Given the description of an element on the screen output the (x, y) to click on. 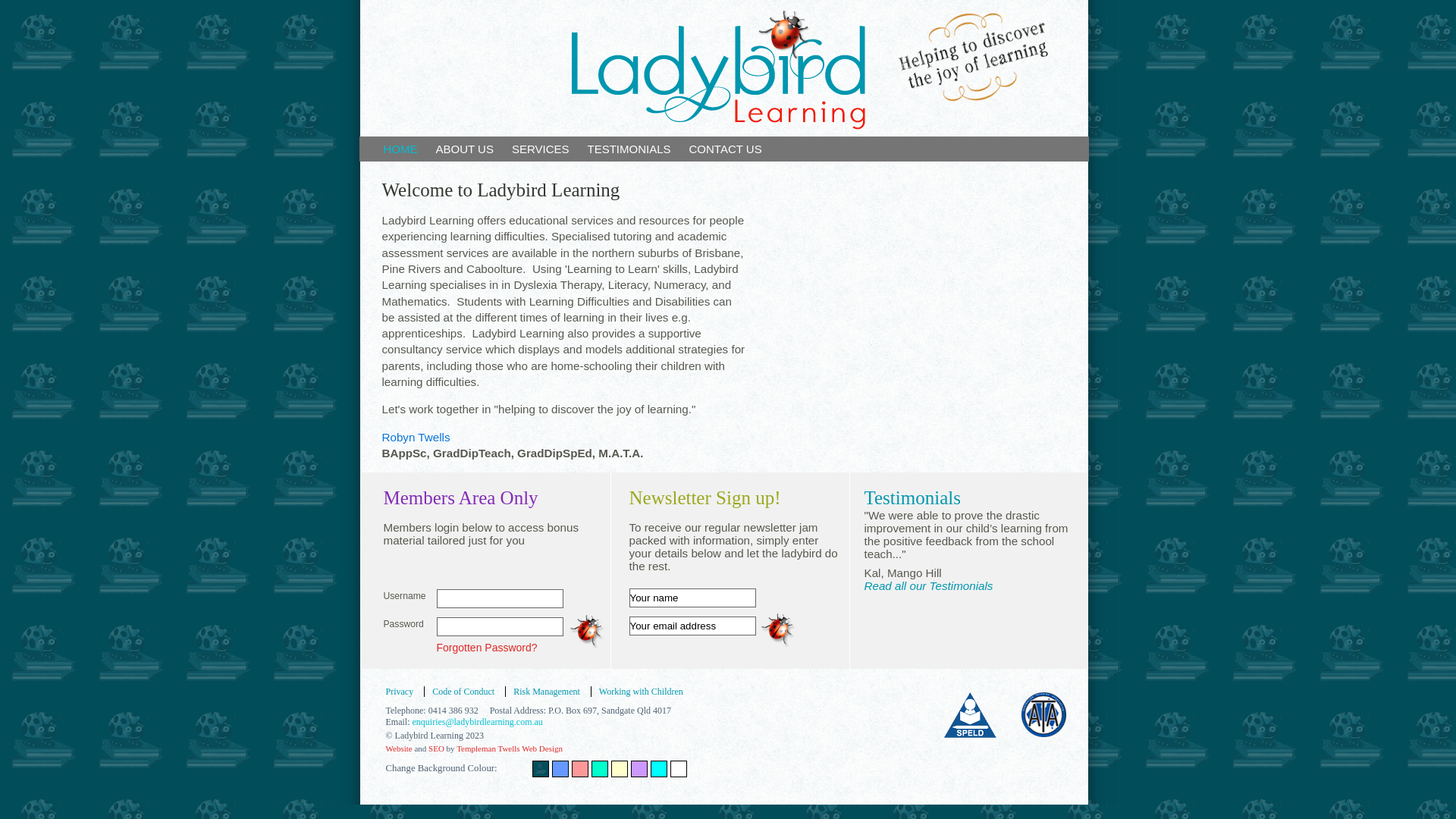
Log In Element type: text (588, 634)
TESTIMONIALS Element type: text (628, 148)
Risk Management Element type: text (546, 691)
Privacy Element type: text (402, 691)
Read all our Testimonials Element type: text (928, 585)
Submit Element type: hover (779, 629)
SEO Element type: text (436, 748)
enquiries@ladybirdlearning.com.au Element type: text (477, 721)
CONTACT US Element type: text (725, 148)
Your name Element type: text (692, 597)
Submit Element type: text (779, 629)
HOME Element type: text (400, 148)
Working with Children Element type: text (640, 691)
ABOUT US Element type: text (464, 148)
Forgotten Password? Element type: text (486, 647)
Website Element type: text (398, 748)
Your email address Element type: text (692, 625)
Templeman Twells Web Design Element type: text (509, 748)
SERVICES Element type: text (540, 148)
Code of Conduct Element type: text (462, 691)
